Given the description of an element on the screen output the (x, y) to click on. 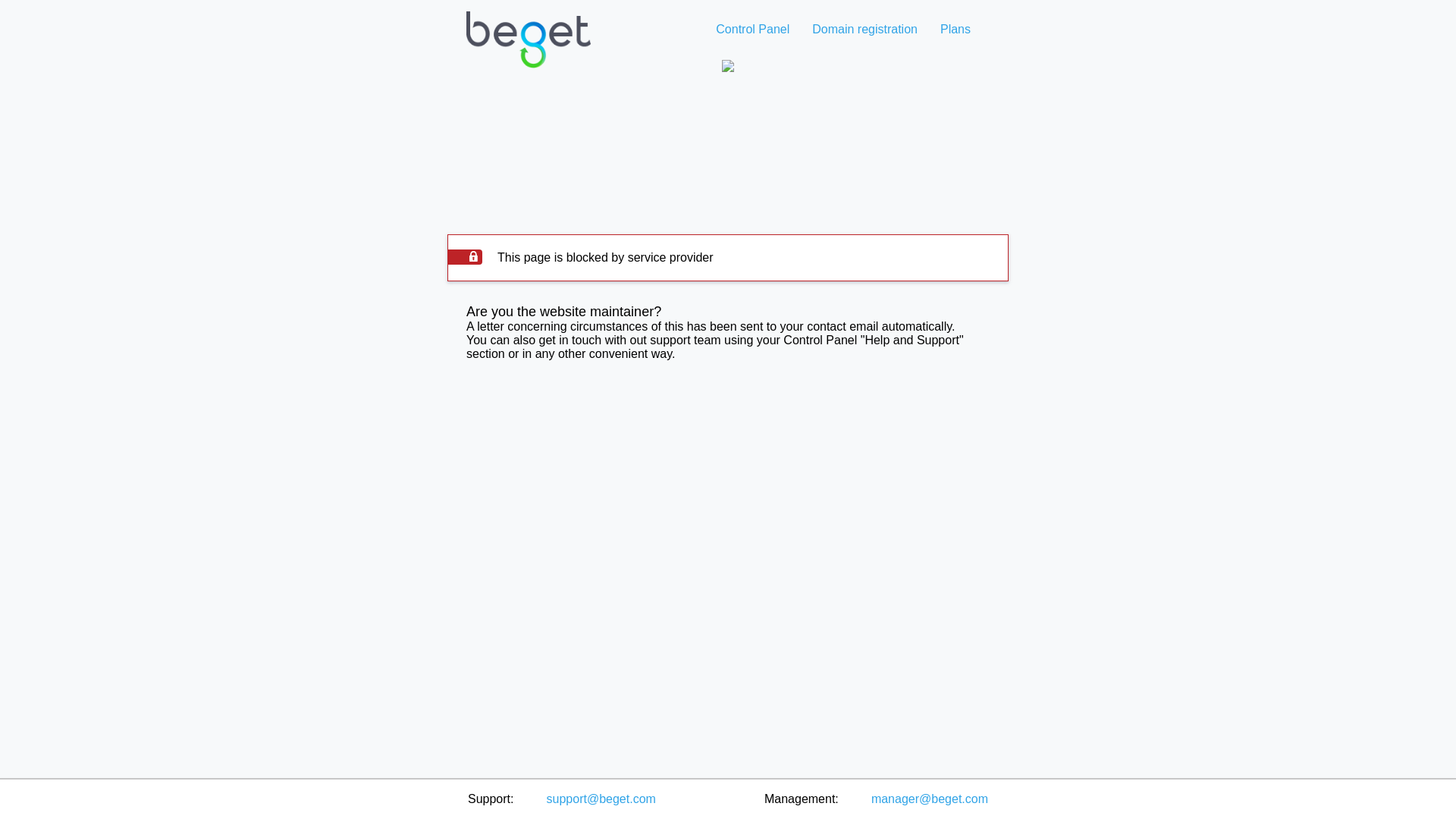
Control Panel (752, 29)
Plans (954, 29)
Domain registration (864, 29)
Web hosting home page (528, 51)
